Given the description of an element on the screen output the (x, y) to click on. 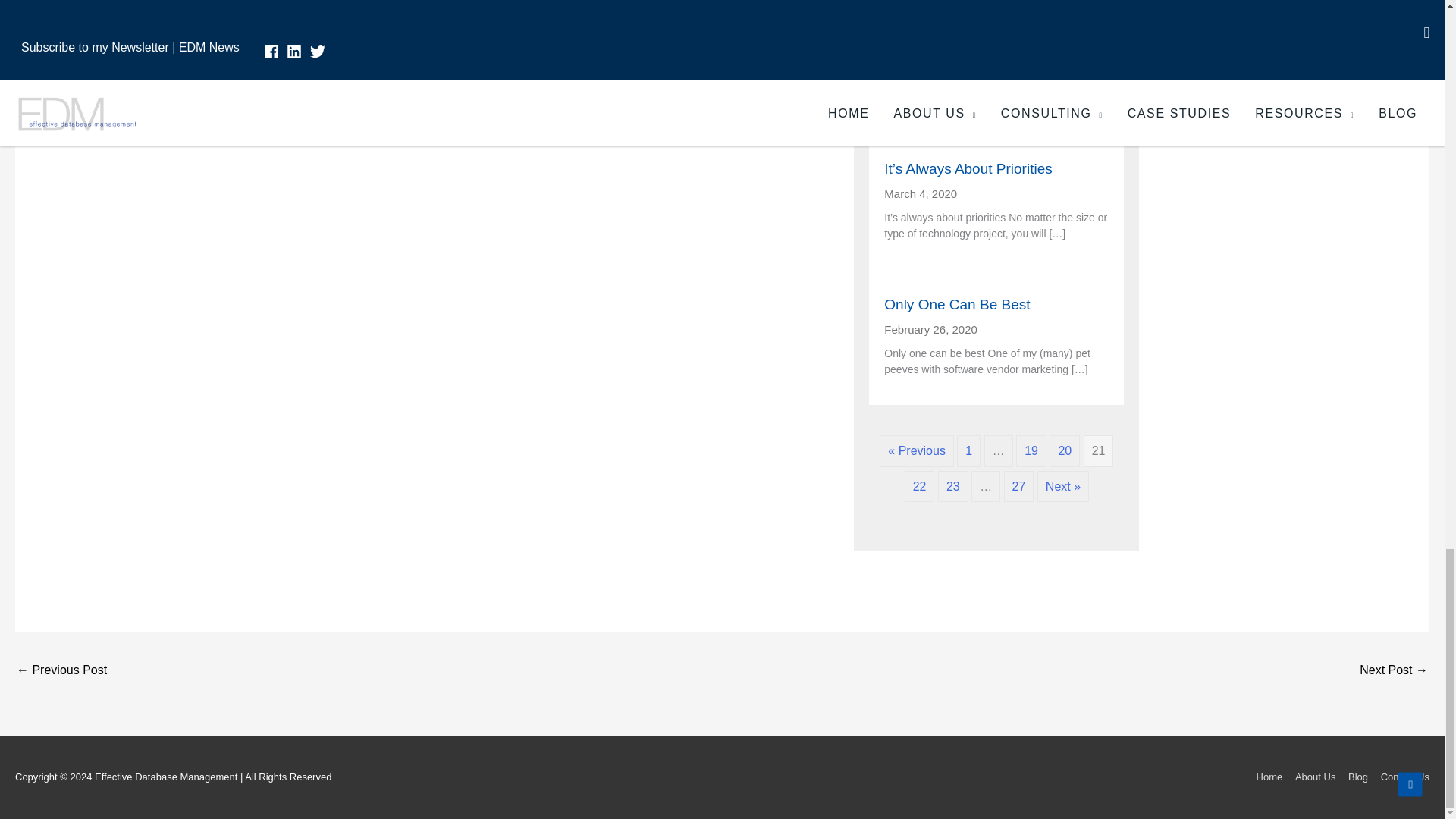
Daylight savings and business rules (995, 13)
Only one can be best (995, 304)
